Given the description of an element on the screen output the (x, y) to click on. 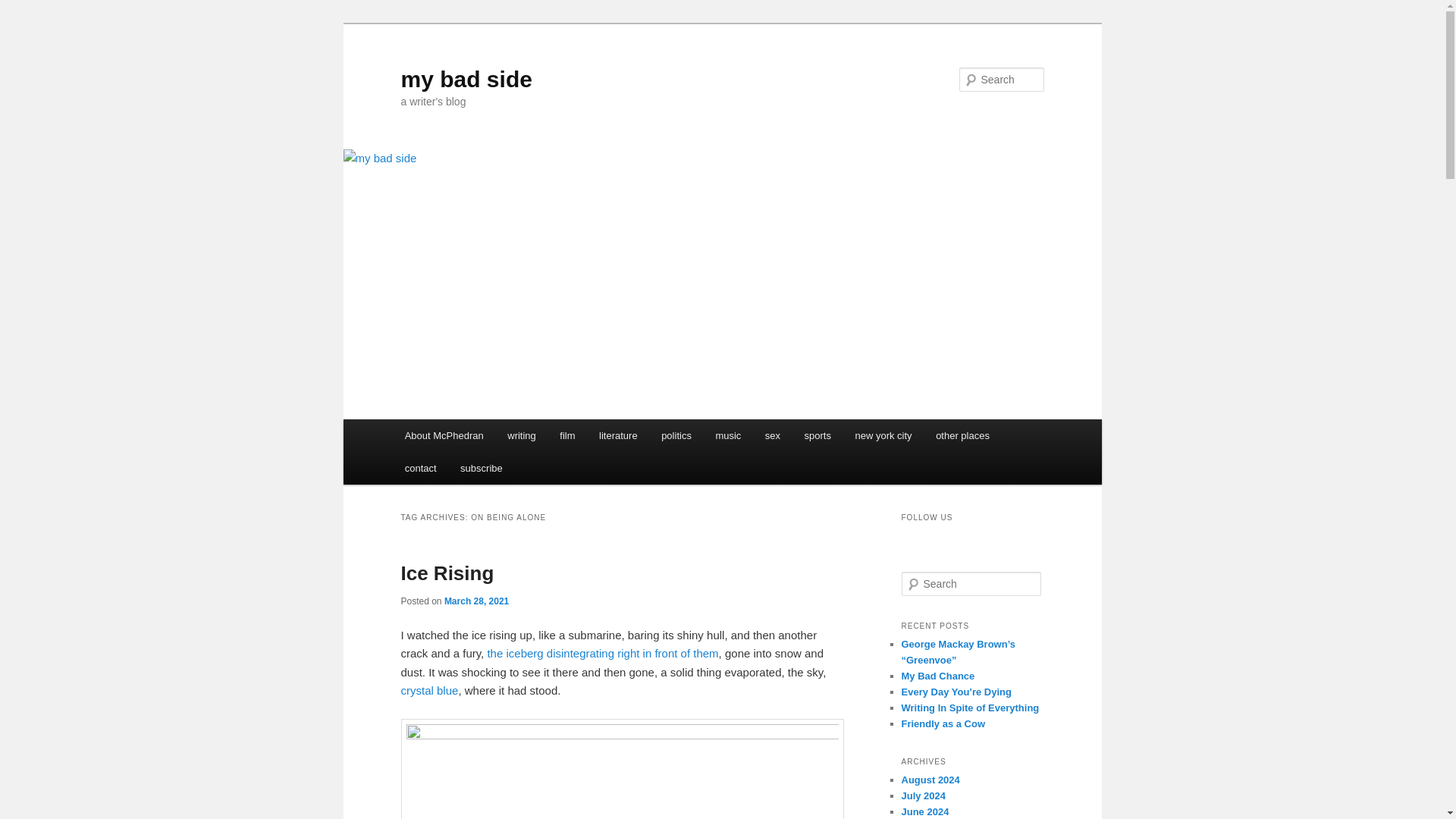
music (727, 435)
Ice Rising (446, 572)
sports (817, 435)
my bad side (465, 78)
literature (617, 435)
7:19 pm (476, 601)
politics (676, 435)
subscribe (480, 468)
writing (522, 435)
contact (420, 468)
